Given the description of an element on the screen output the (x, y) to click on. 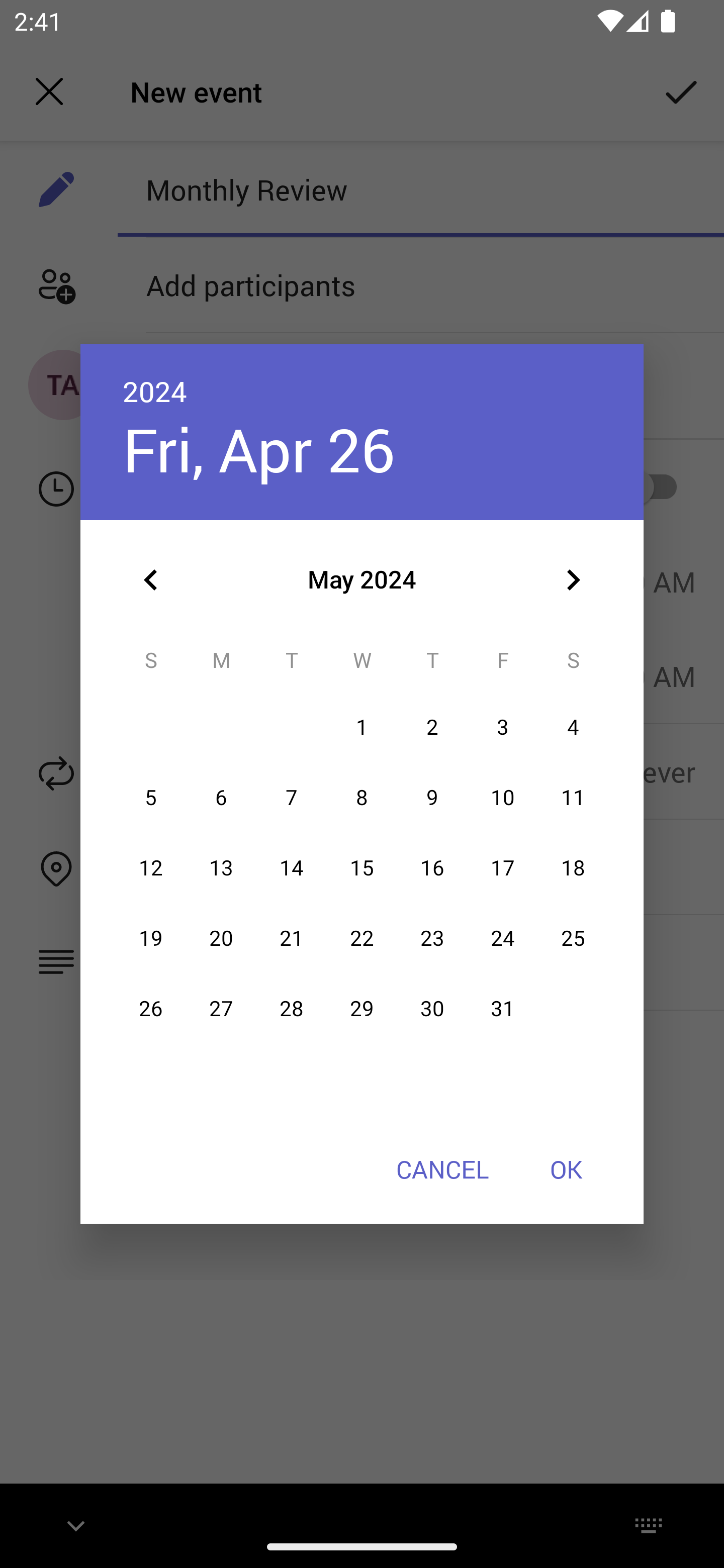
2024 (154, 391)
Fri, Apr 26 (258, 449)
Previous month (150, 579)
Next month (572, 579)
1 01 May 2024 (361, 728)
2 02 May 2024 (432, 728)
3 03 May 2024 (502, 728)
4 04 May 2024 (572, 728)
5 05 May 2024 (150, 797)
6 06 May 2024 (221, 797)
7 07 May 2024 (291, 797)
8 08 May 2024 (361, 797)
9 09 May 2024 (432, 797)
10 10 May 2024 (502, 797)
11 11 May 2024 (572, 797)
12 12 May 2024 (150, 867)
13 13 May 2024 (221, 867)
14 14 May 2024 (291, 867)
15 15 May 2024 (361, 867)
16 16 May 2024 (432, 867)
17 17 May 2024 (502, 867)
18 18 May 2024 (572, 867)
19 19 May 2024 (150, 938)
20 20 May 2024 (221, 938)
21 21 May 2024 (291, 938)
22 22 May 2024 (361, 938)
23 23 May 2024 (432, 938)
24 24 May 2024 (502, 938)
25 25 May 2024 (572, 938)
26 26 May 2024 (150, 1008)
27 27 May 2024 (221, 1008)
28 28 May 2024 (291, 1008)
29 29 May 2024 (361, 1008)
30 30 May 2024 (432, 1008)
31 31 May 2024 (502, 1008)
CANCEL (442, 1168)
OK (565, 1168)
